Given the description of an element on the screen output the (x, y) to click on. 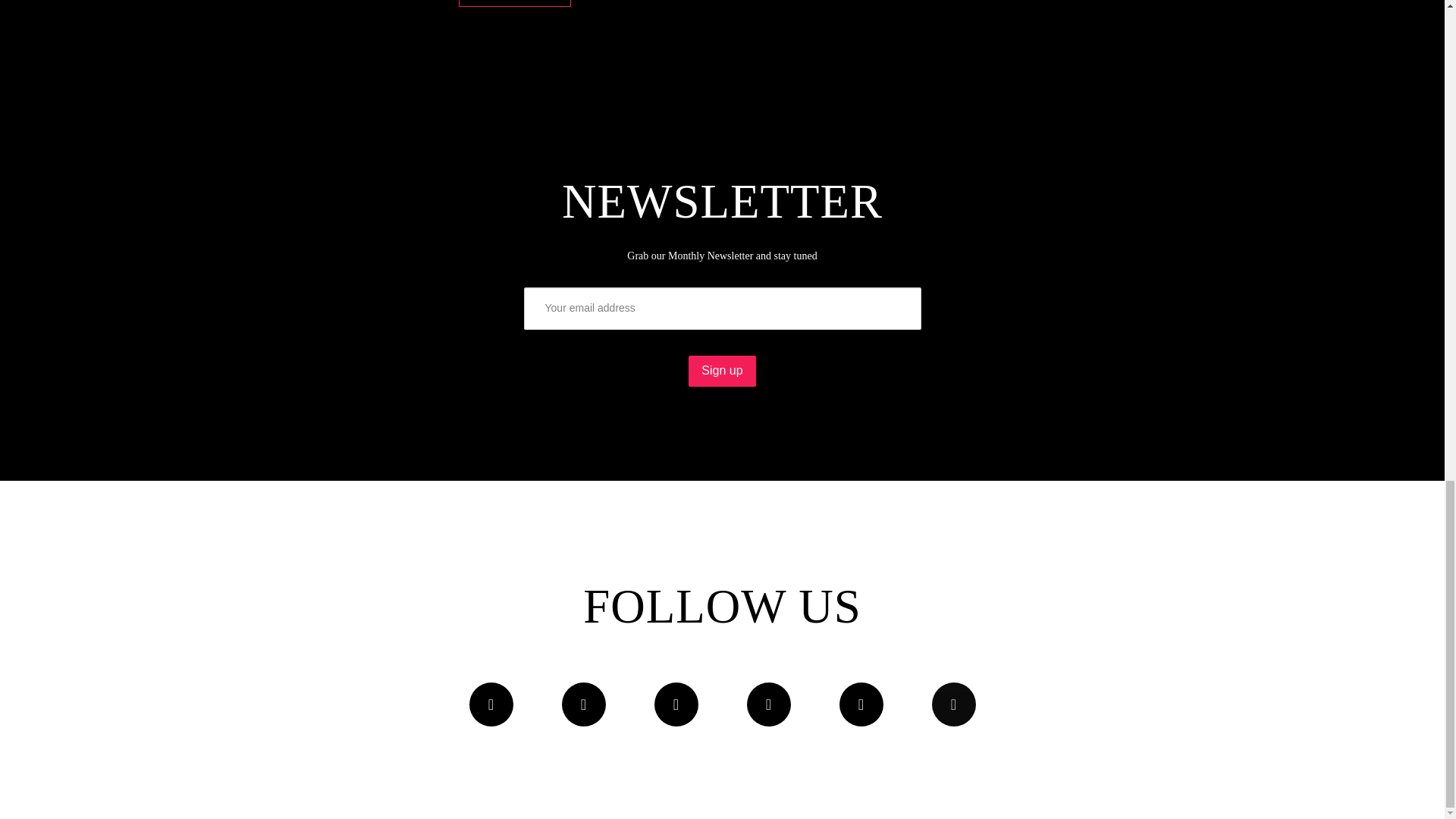
Sign up (721, 370)
Unstablesignal Instagram (767, 704)
Sign up (721, 370)
Post Comment (514, 3)
Unstablesignal Youtube (675, 704)
Unstablesignal Facebook (490, 704)
Unstablesignal Soundcloud (582, 704)
